Given the description of an element on the screen output the (x, y) to click on. 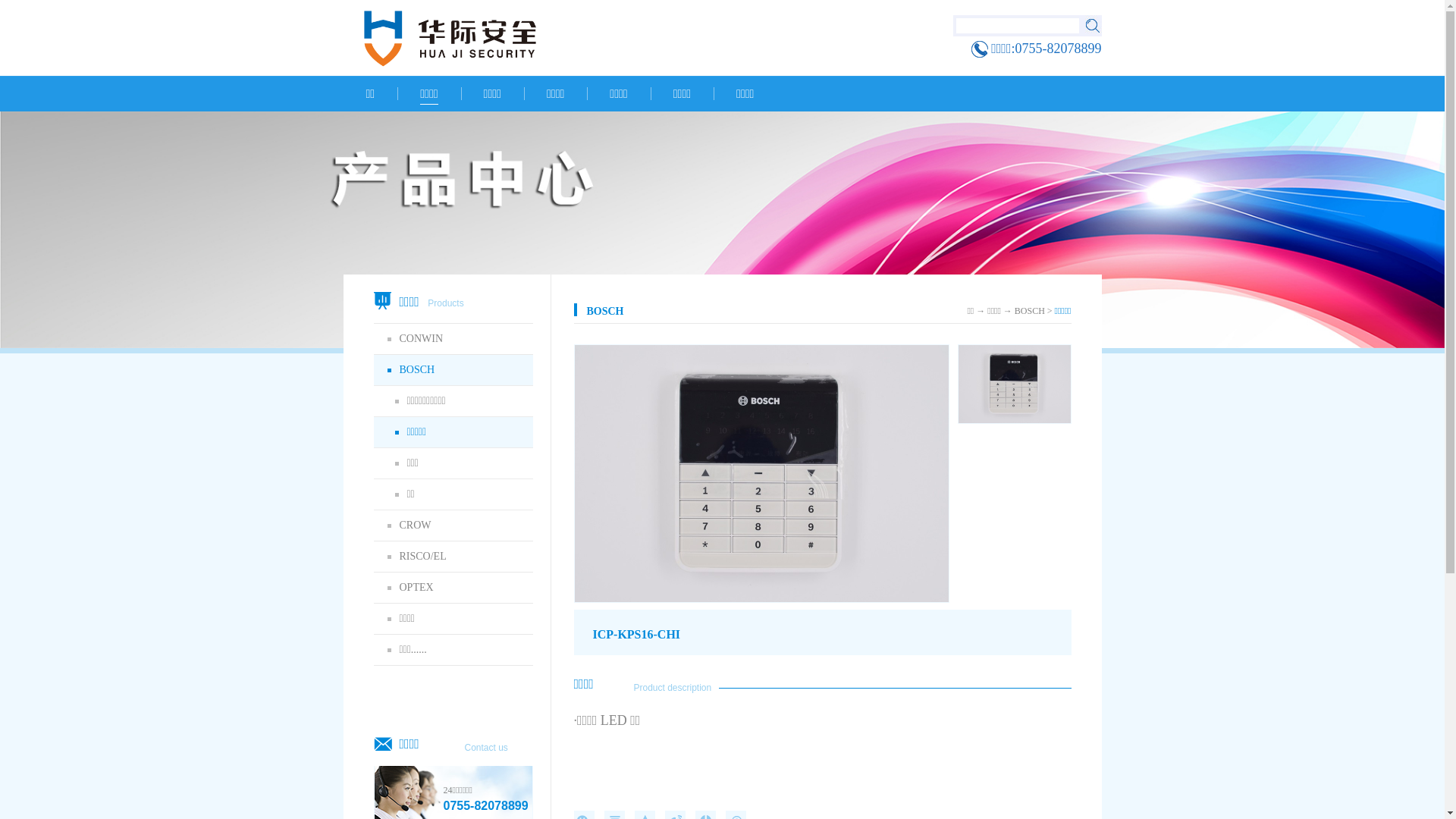
BOSCH Element type: text (670, 310)
CROW Element type: text (452, 525)
CONWIN Element type: text (452, 338)
BOSCH Element type: text (1029, 310)
0 Element type: text (6, 9)
OPTEX Element type: text (452, 587)
BOSCH Element type: text (452, 369)
RISCO/EL Element type: text (452, 556)
